Given the description of an element on the screen output the (x, y) to click on. 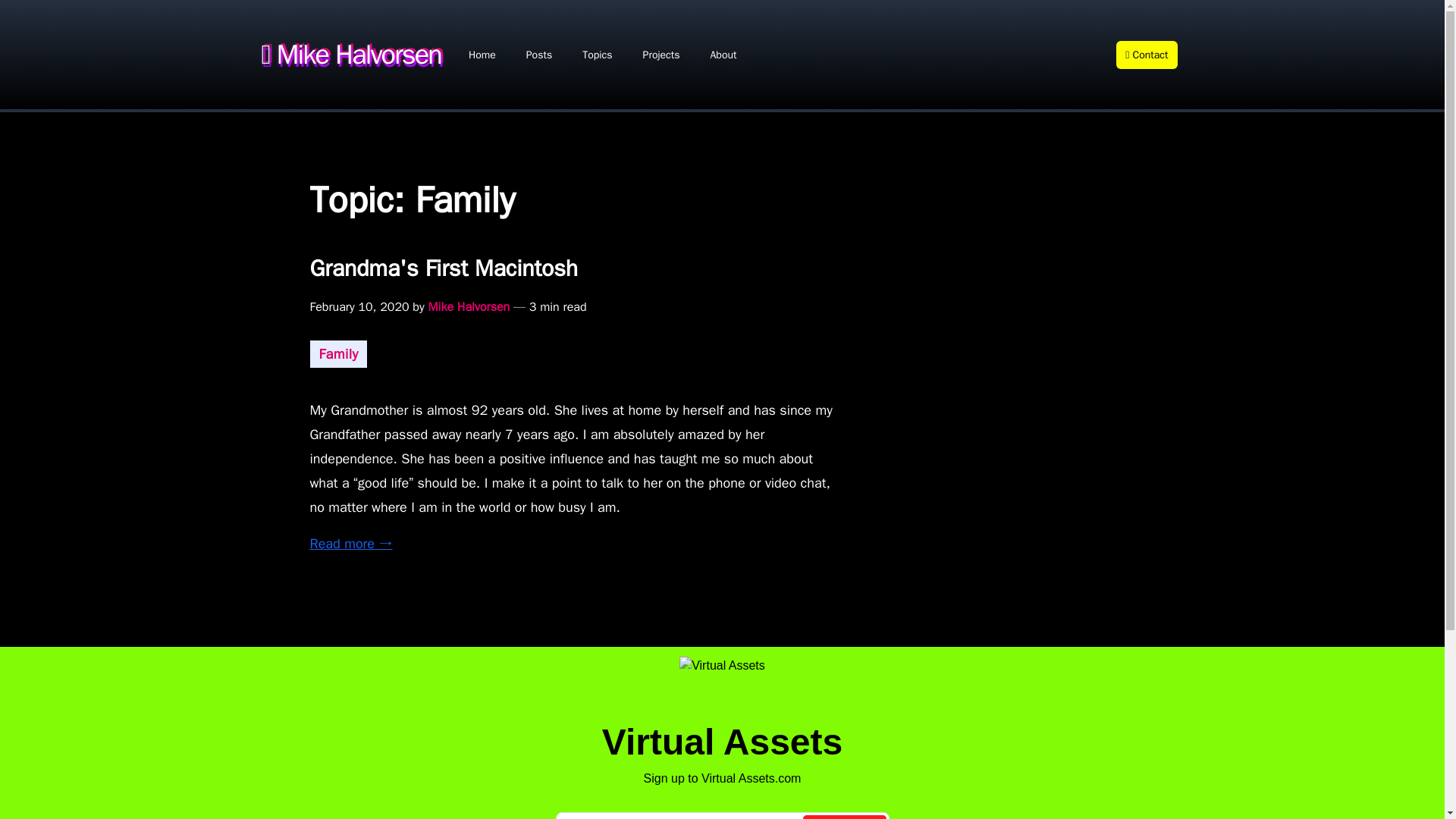
Mike Halvorsen (468, 306)
Projects (660, 54)
Mike Halvorsen (358, 53)
Topics (597, 54)
Grandma's First Macintosh (721, 268)
Home (482, 54)
Posts (538, 54)
About (723, 54)
Family (338, 353)
